Given the description of an element on the screen output the (x, y) to click on. 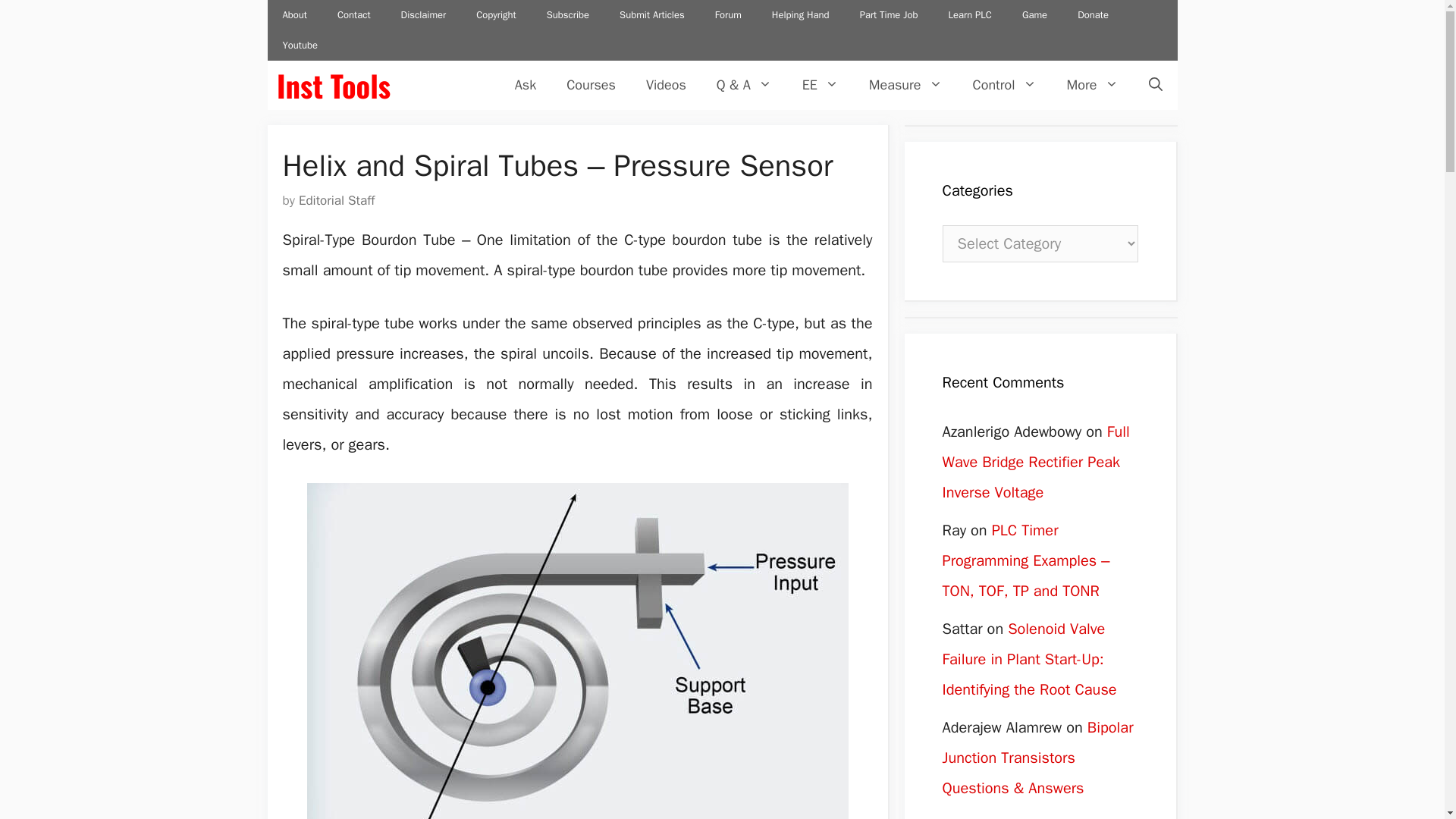
Industrial Automation and Instrumentation Courses (590, 84)
Subscribe (567, 15)
Helping Hand (800, 15)
Contact (353, 15)
Forum (728, 15)
Disclaimer (423, 15)
Donate (1093, 15)
Game (1034, 15)
Ask Your Questions (525, 84)
Inst Tools (333, 84)
Submit Articles (652, 15)
Part Time Job (888, 15)
EE (820, 84)
Videos (665, 84)
View all posts by Editorial Staff (336, 200)
